Given the description of an element on the screen output the (x, y) to click on. 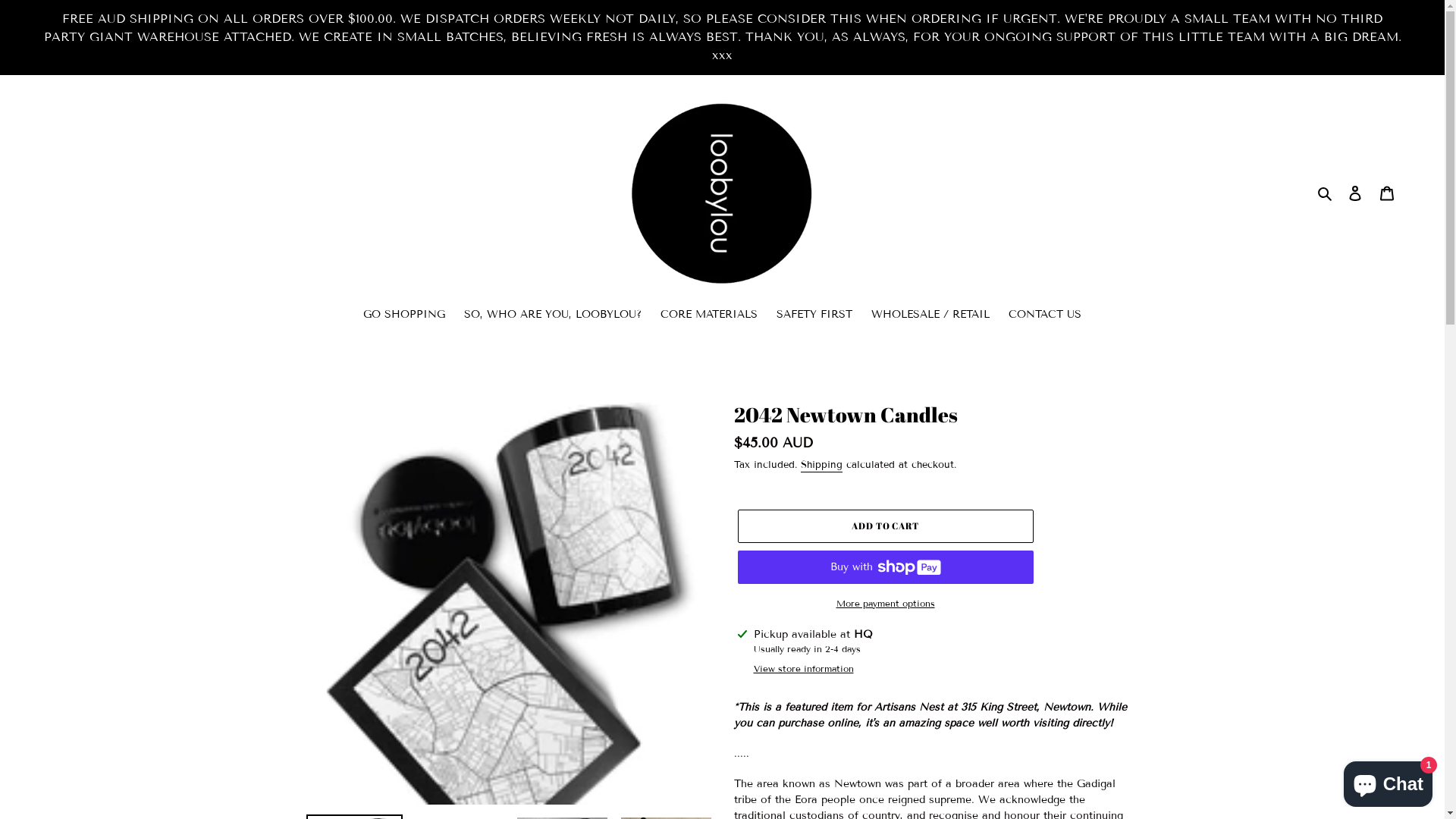
View store information Element type: text (803, 668)
SO, WHO ARE YOU, LOOBYLOU? Element type: text (552, 315)
WHOLESALE / RETAIL Element type: text (930, 315)
CORE MATERIALS Element type: text (708, 315)
More payment options Element type: text (884, 603)
Log in Element type: text (1355, 192)
GO SHOPPING Element type: text (403, 315)
Search Element type: text (1325, 192)
Shipping Element type: text (821, 465)
Cart Element type: text (1386, 192)
SAFETY FIRST Element type: text (813, 315)
Shopify online store chat Element type: hover (1388, 780)
ADD TO CART Element type: text (884, 525)
CONTACT US Element type: text (1044, 315)
